Given the description of an element on the screen output the (x, y) to click on. 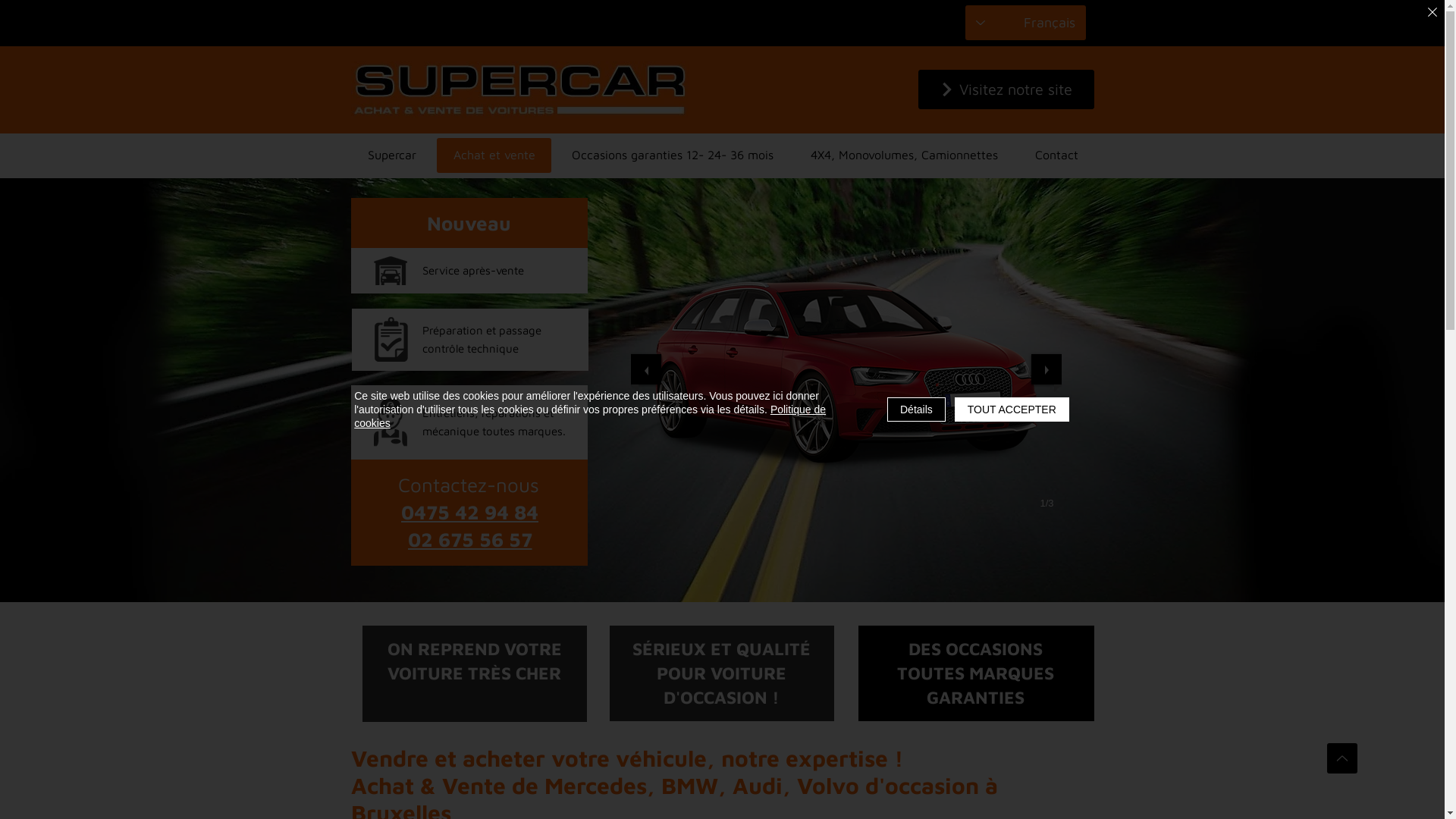
Politique de cookies Element type: text (589, 416)
Visitez notre site Element type: text (1005, 89)
0475 42 94 84 Element type: text (467, 512)
4X4, Monovolumes, Camionnettes Element type: text (904, 155)
02 675 56 57 Element type: text (468, 539)
Contact Element type: text (1057, 155)
Achat et vente Element type: text (493, 155)
Supercar Element type: text (392, 155)
TOUT ACCEPTER Element type: text (1011, 409)
Occasions garanties 12- 24- 36 mois Element type: text (672, 155)
